Given the description of an element on the screen output the (x, y) to click on. 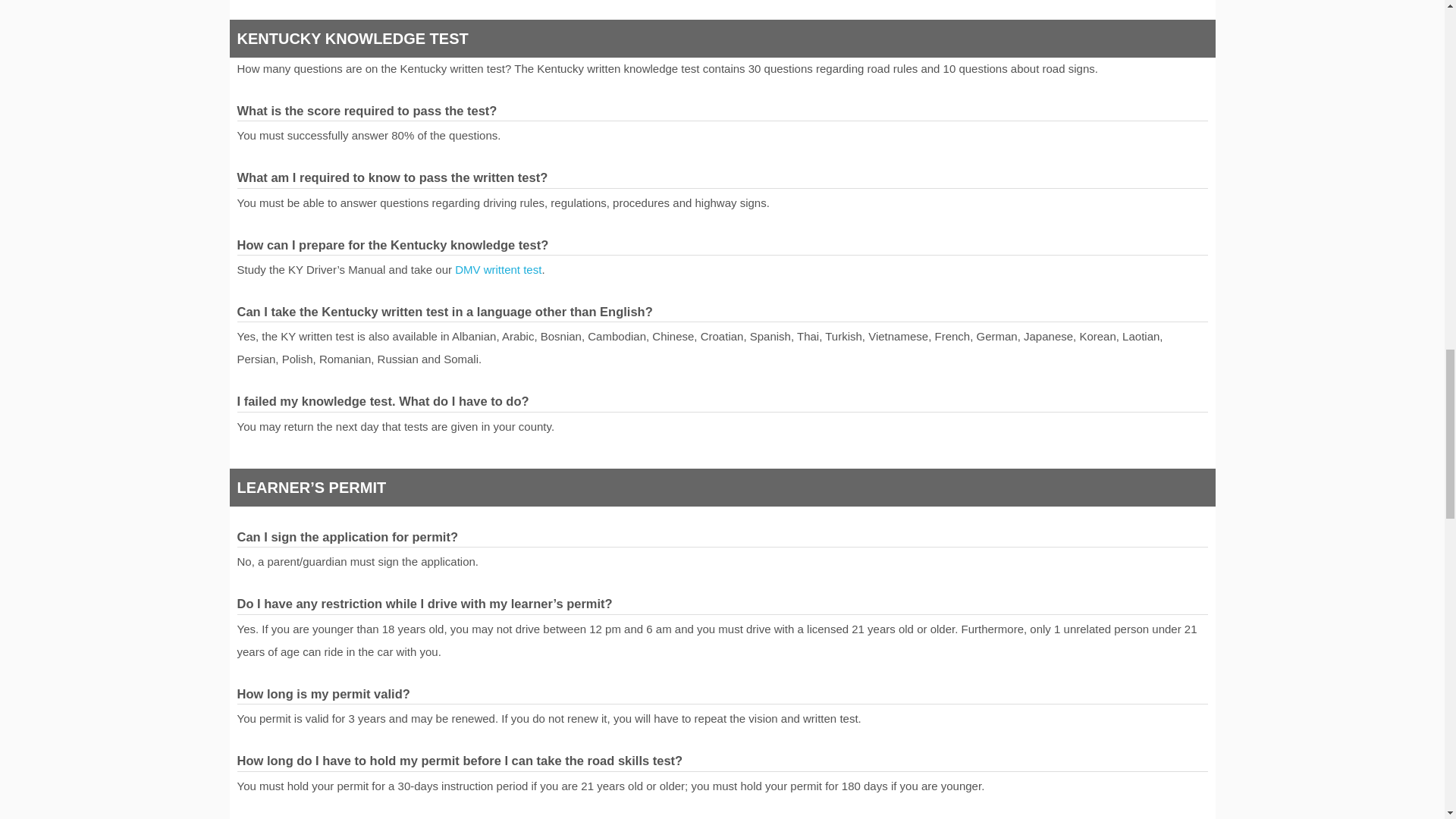
DMV writtent test (497, 269)
